Given the description of an element on the screen output the (x, y) to click on. 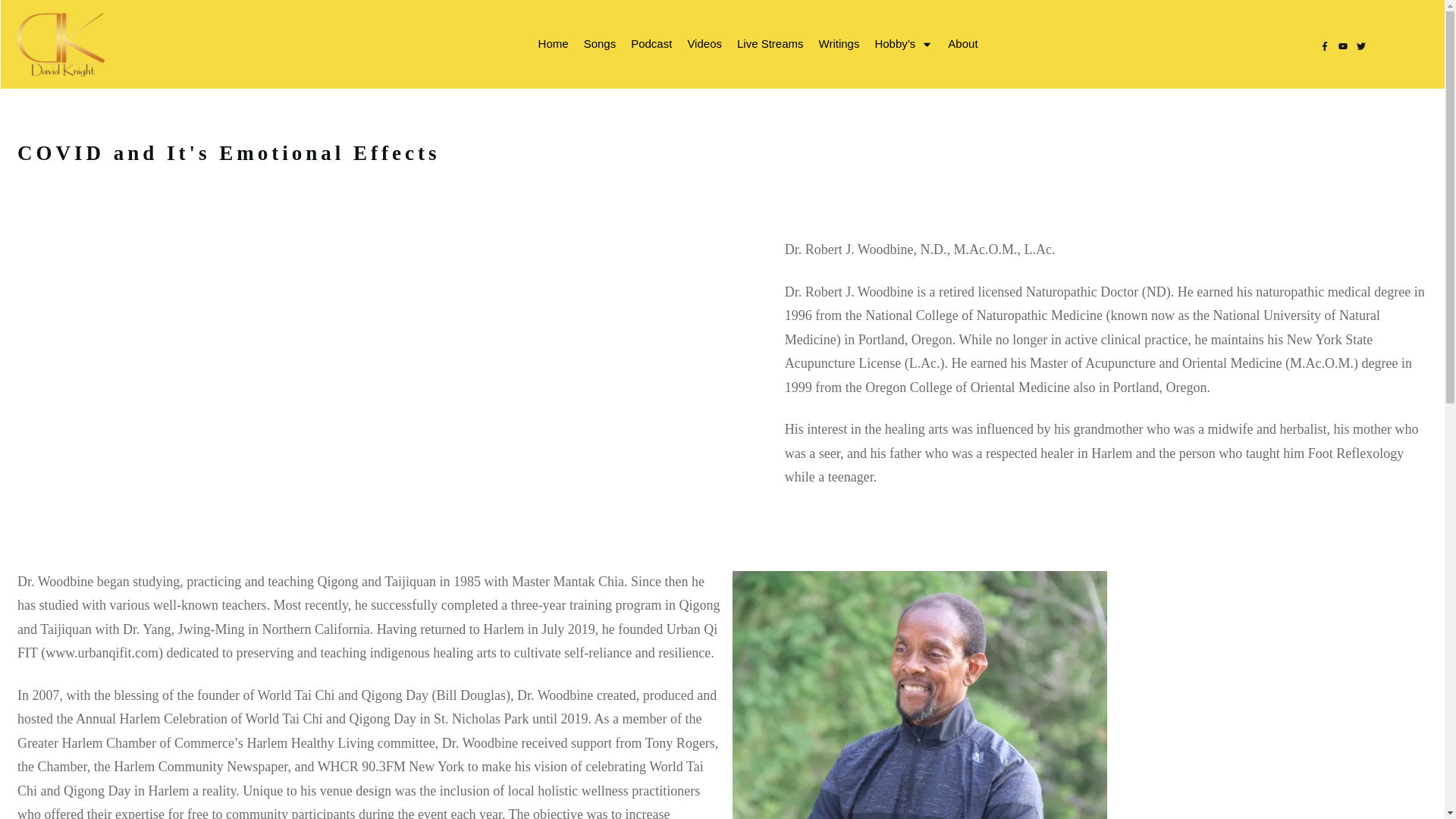
Live Streams (769, 43)
Home (553, 43)
Writings (839, 43)
About (961, 43)
Podcast (650, 43)
Videos (704, 43)
Songs (599, 43)
